Given the description of an element on the screen output the (x, y) to click on. 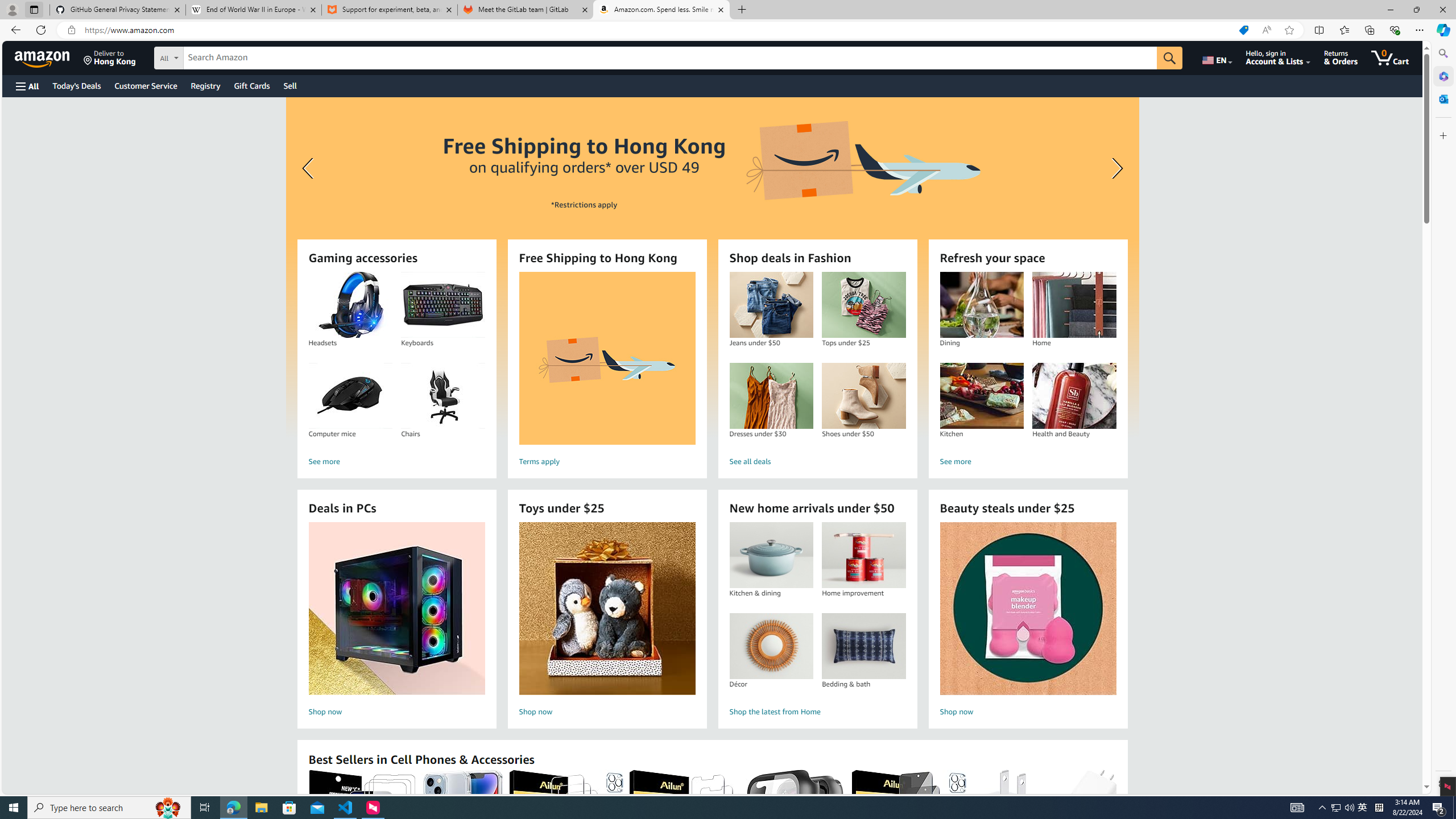
Meet the GitLab team | GitLab (525, 9)
Jeans under $50 (770, 304)
Dresses under $30 (771, 395)
Choose a language for shopping. (1216, 57)
Kitchen & dining (770, 555)
Health and Beauty (1074, 395)
Home improvement (863, 555)
Gift Cards (251, 85)
Sell (290, 85)
Tops under $25 (863, 304)
Jeans under $50 (771, 304)
